Given the description of an element on the screen output the (x, y) to click on. 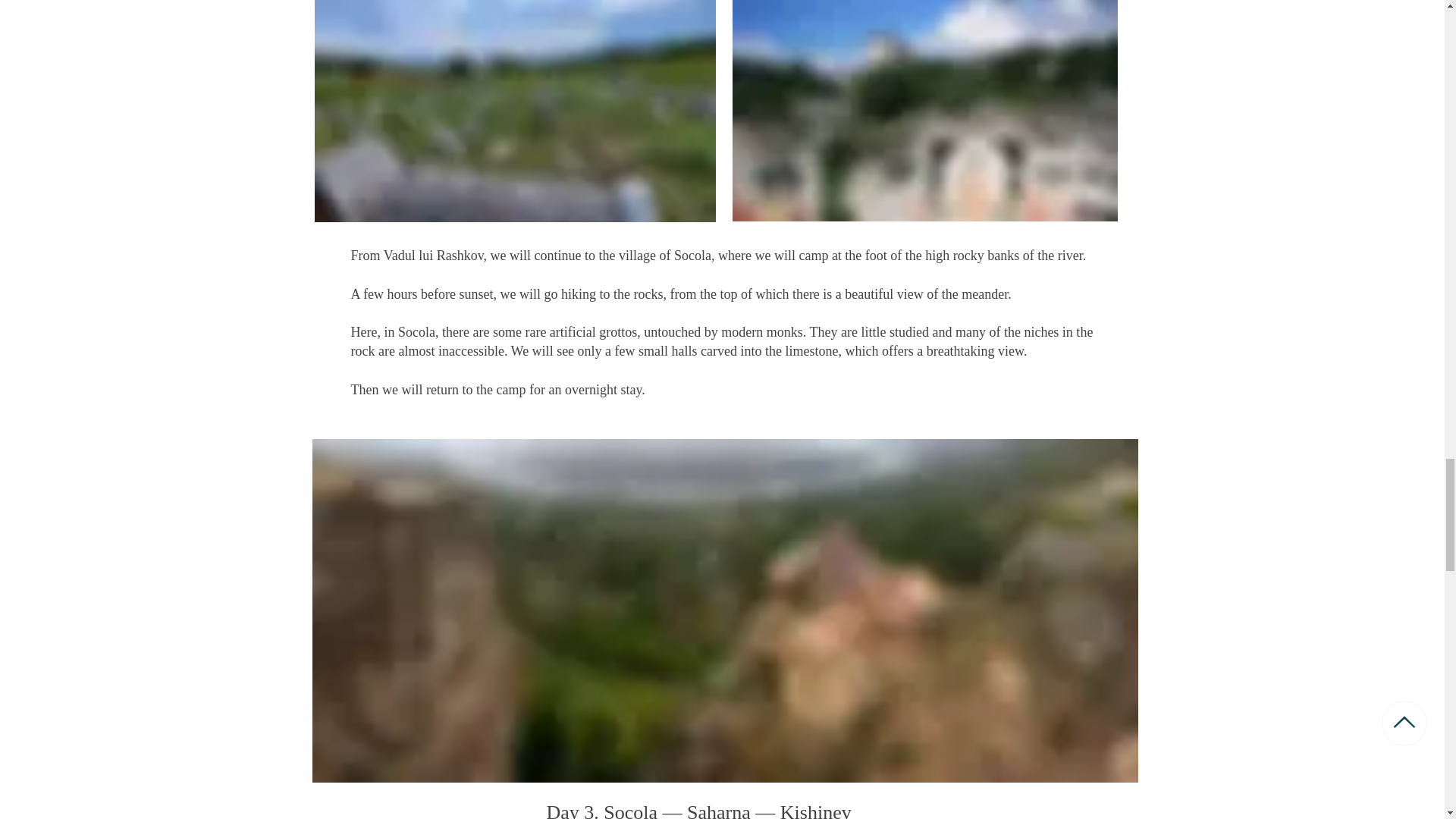
synagogue and catholic church in Rashkov (925, 110)
Jewish cemetery in Vadul lui Rashkov, Moldova (514, 110)
